Given the description of an element on the screen output the (x, y) to click on. 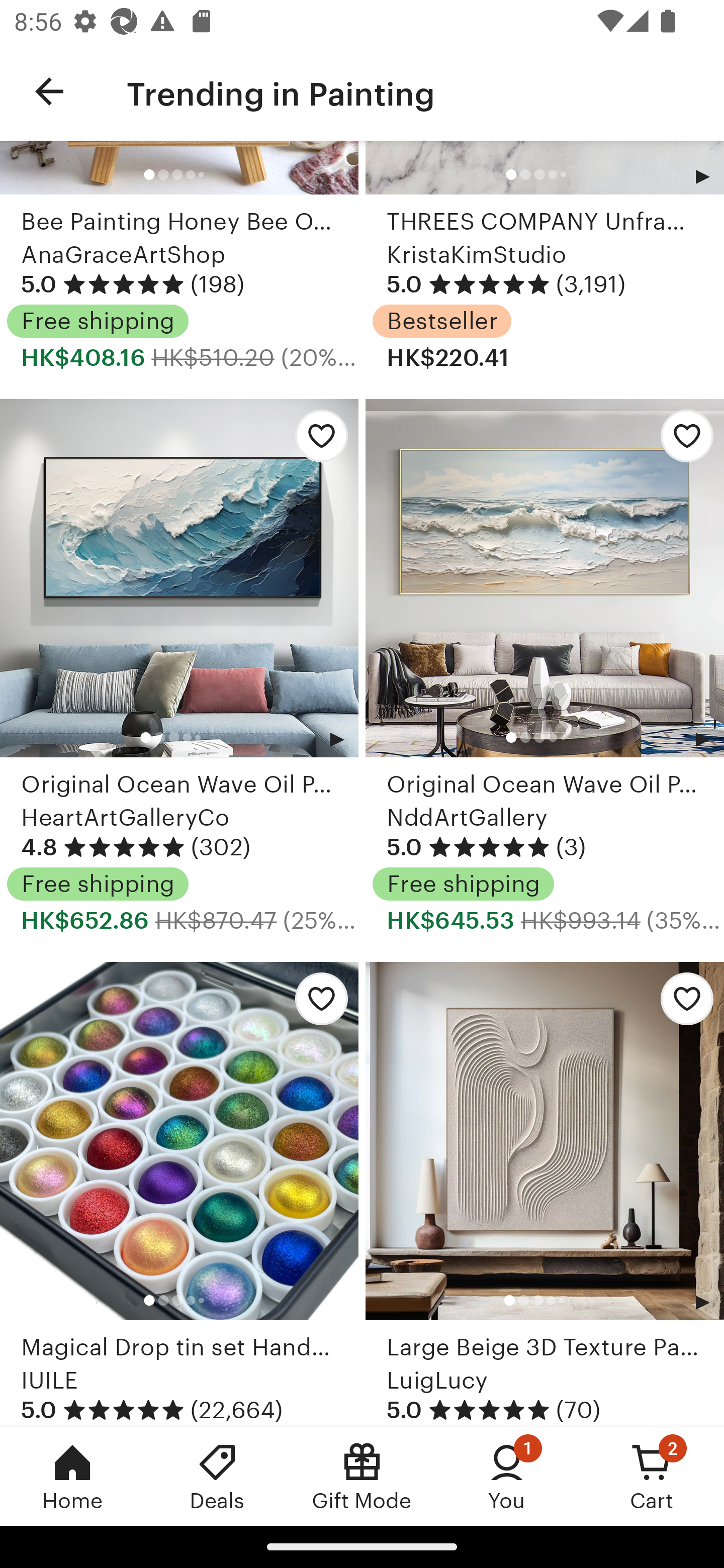
Navigate up (49, 91)
Deals (216, 1475)
Gift Mode (361, 1475)
You, 1 new notification You (506, 1475)
Cart, 2 new notifications Cart (651, 1475)
